Given the description of an element on the screen output the (x, y) to click on. 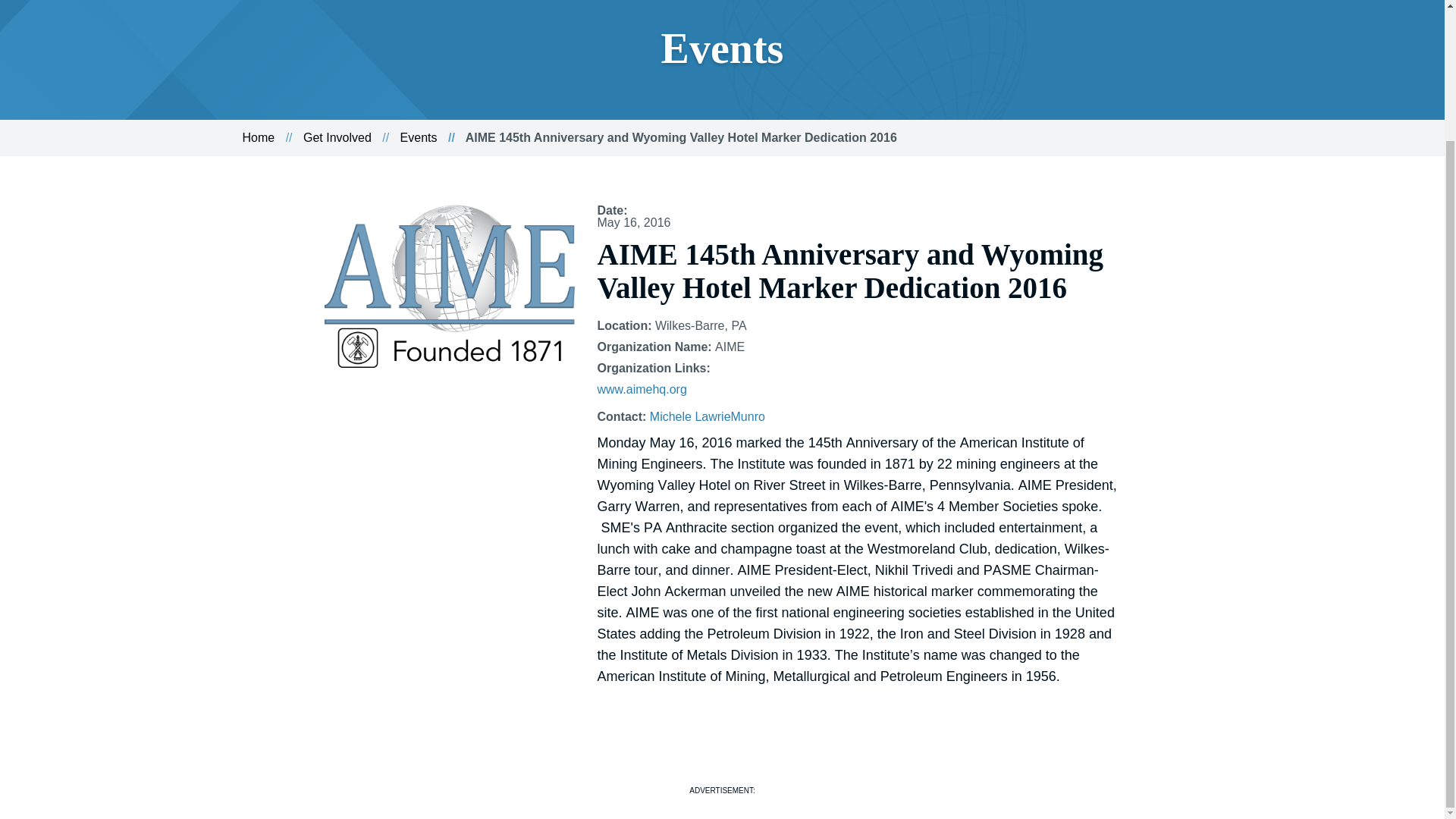
Home (259, 137)
Michele LawrieMunro (707, 416)
Get Involved (336, 137)
www.aimehq.org (641, 389)
Events (419, 137)
